Given the description of an element on the screen output the (x, y) to click on. 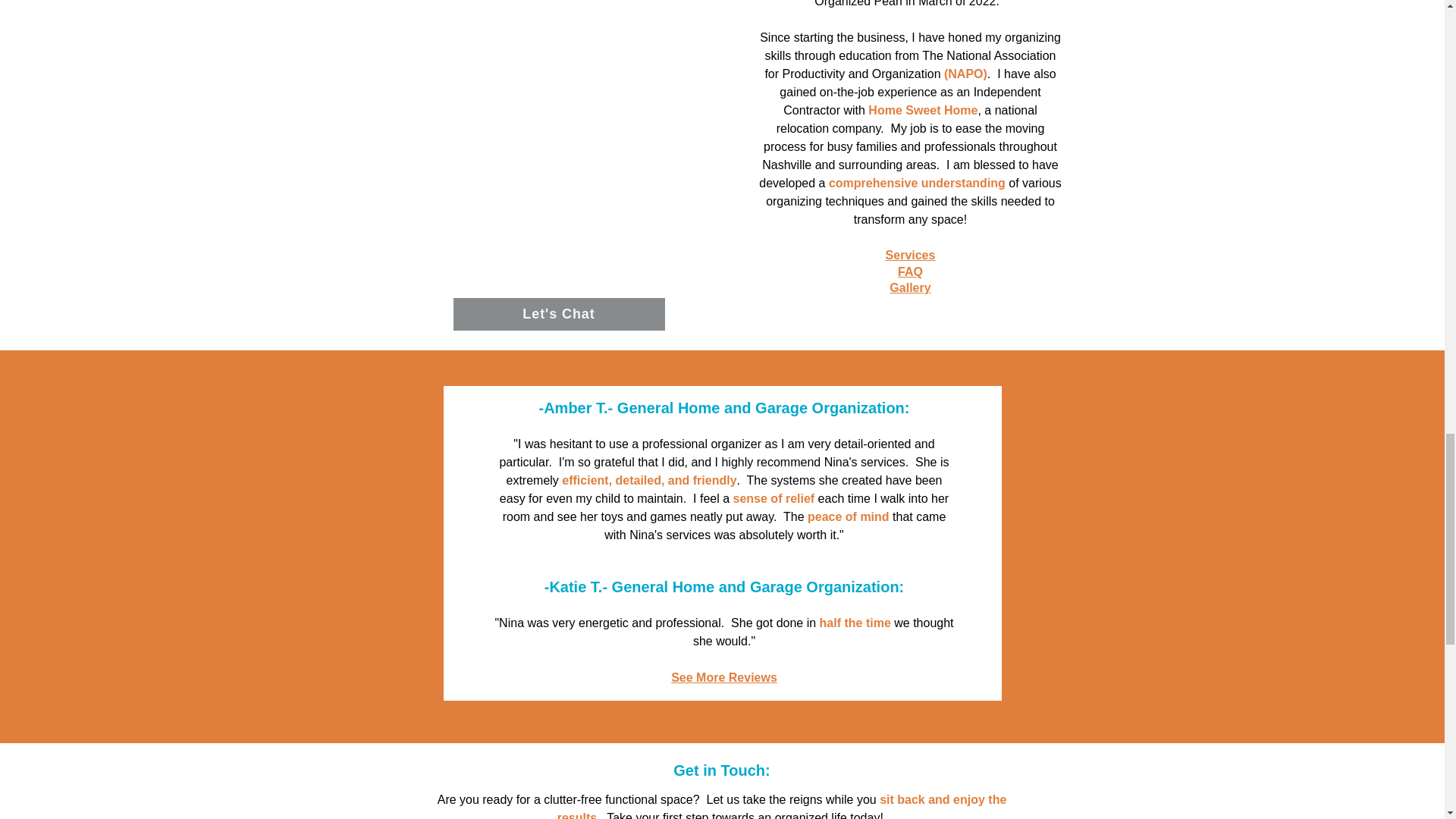
Let's Chat (558, 314)
Gallery (909, 287)
See More Reviews (724, 676)
FAQ (910, 271)
Services (910, 254)
